Given the description of an element on the screen output the (x, y) to click on. 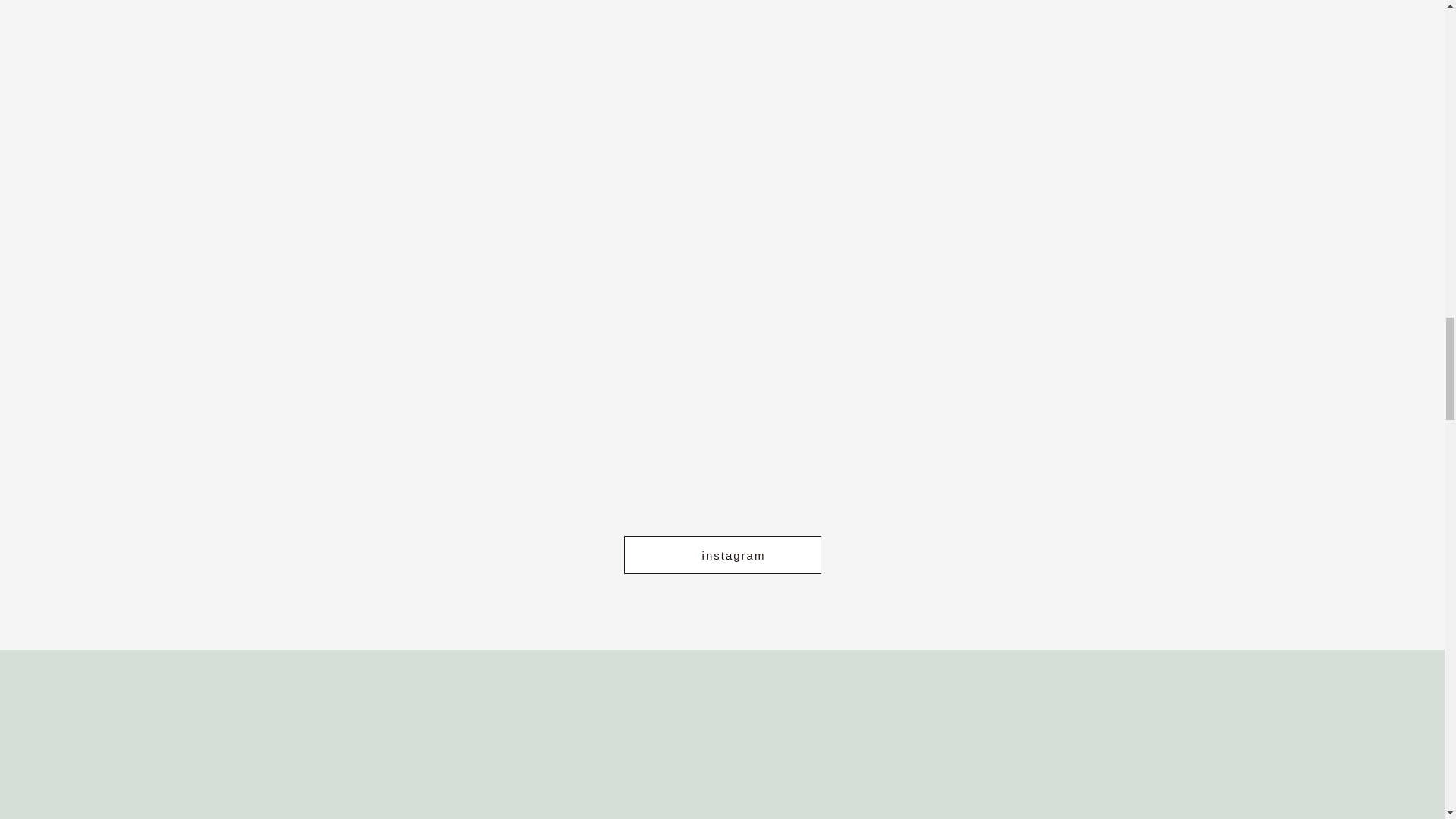
instagram (722, 555)
